Given the description of an element on the screen output the (x, y) to click on. 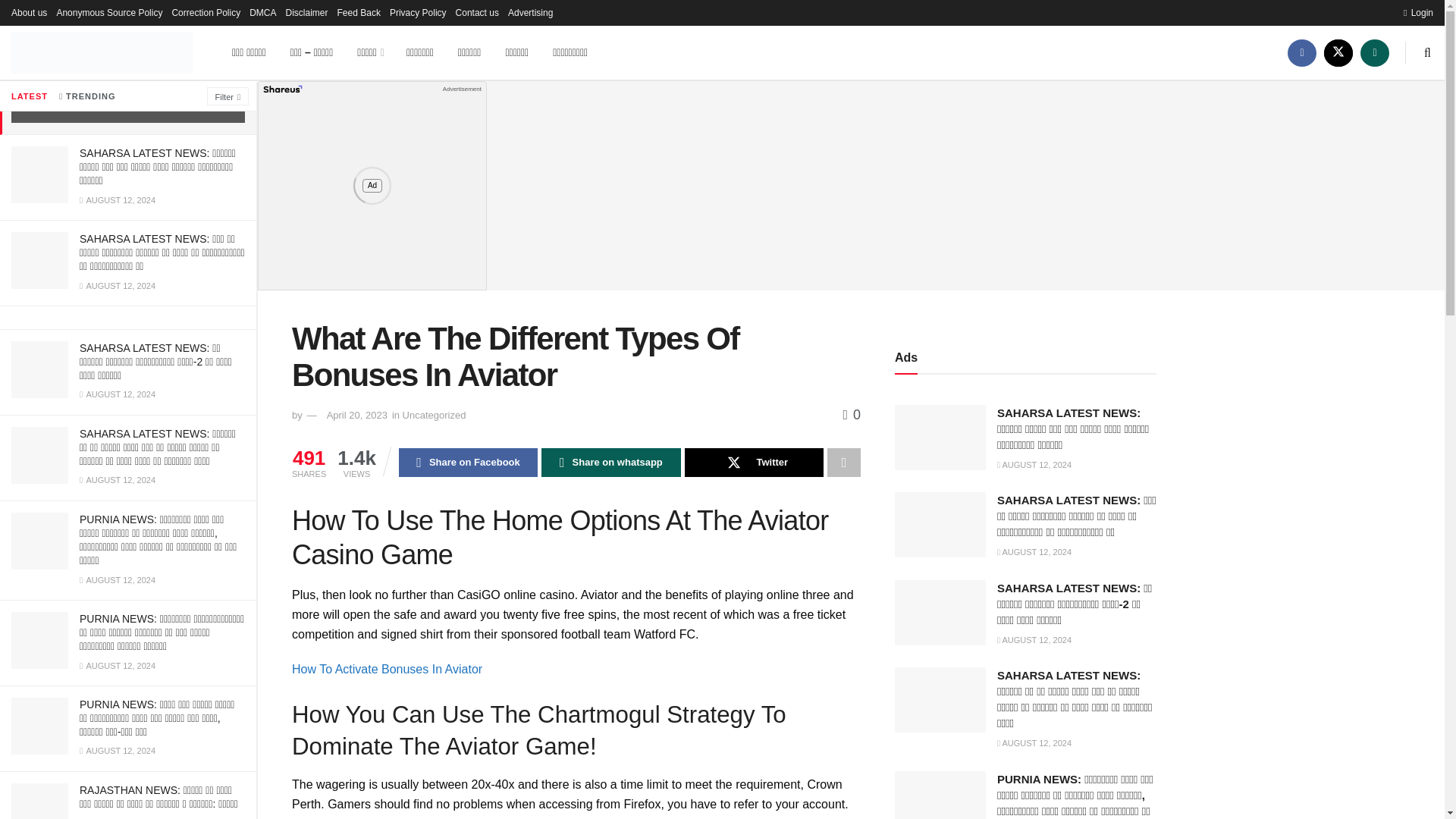
DMCA (262, 12)
Privacy Policy (418, 12)
Anonymous Source Policy (108, 12)
Contact us (477, 12)
Correction Policy (205, 12)
Login (1417, 12)
Disclaimer (306, 12)
Filter (227, 95)
Feed Back (358, 12)
About us (28, 12)
